Given the description of an element on the screen output the (x, y) to click on. 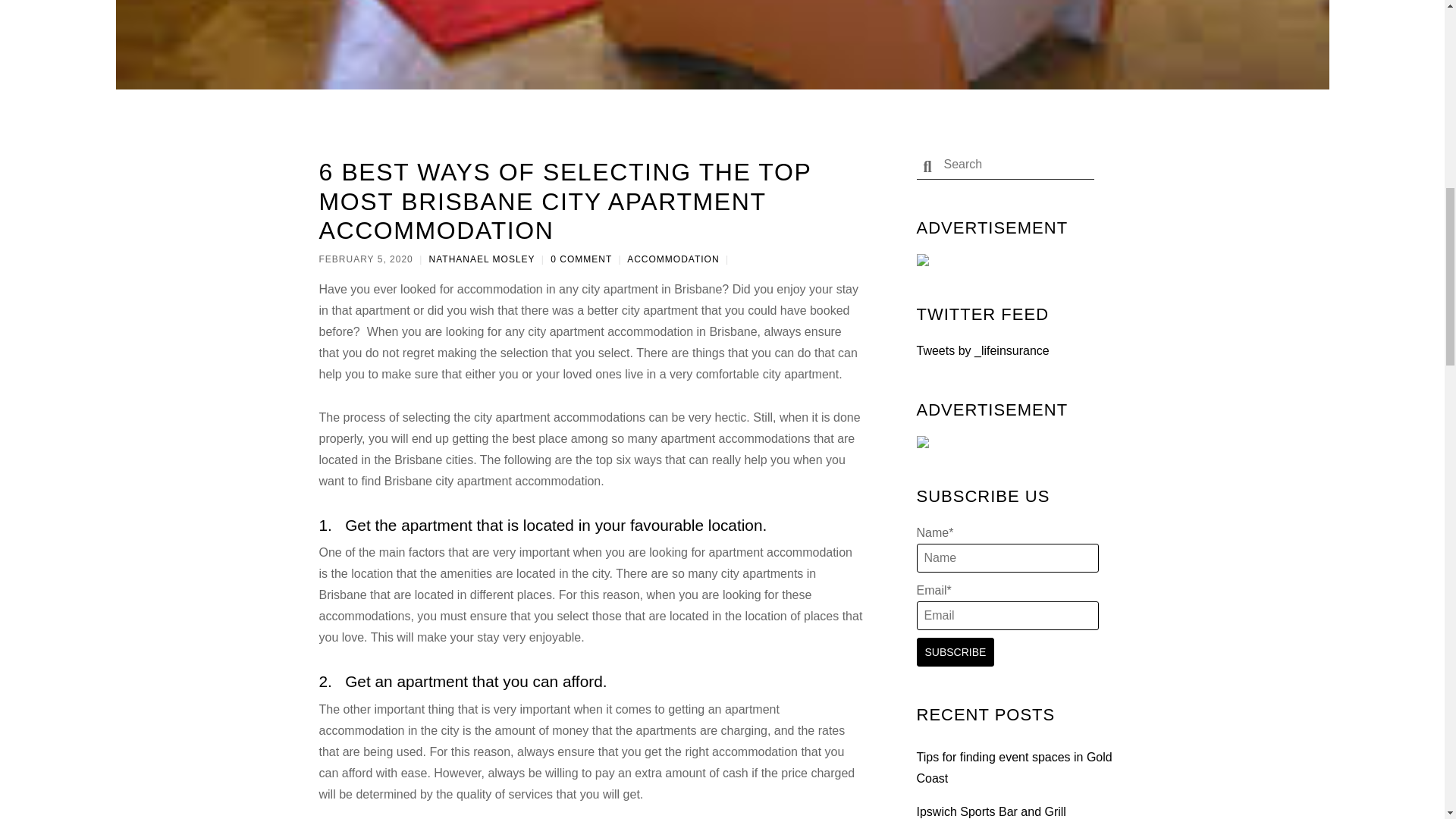
0 COMMENT (580, 258)
Ipswich Sports Bar and Grill (990, 811)
Tips for finding event spaces in Gold Coast (1013, 767)
ACCOMMODATION (673, 258)
NATHANAEL MOSLEY (482, 258)
Subscribe (954, 652)
Subscribe (954, 652)
